Given the description of an element on the screen output the (x, y) to click on. 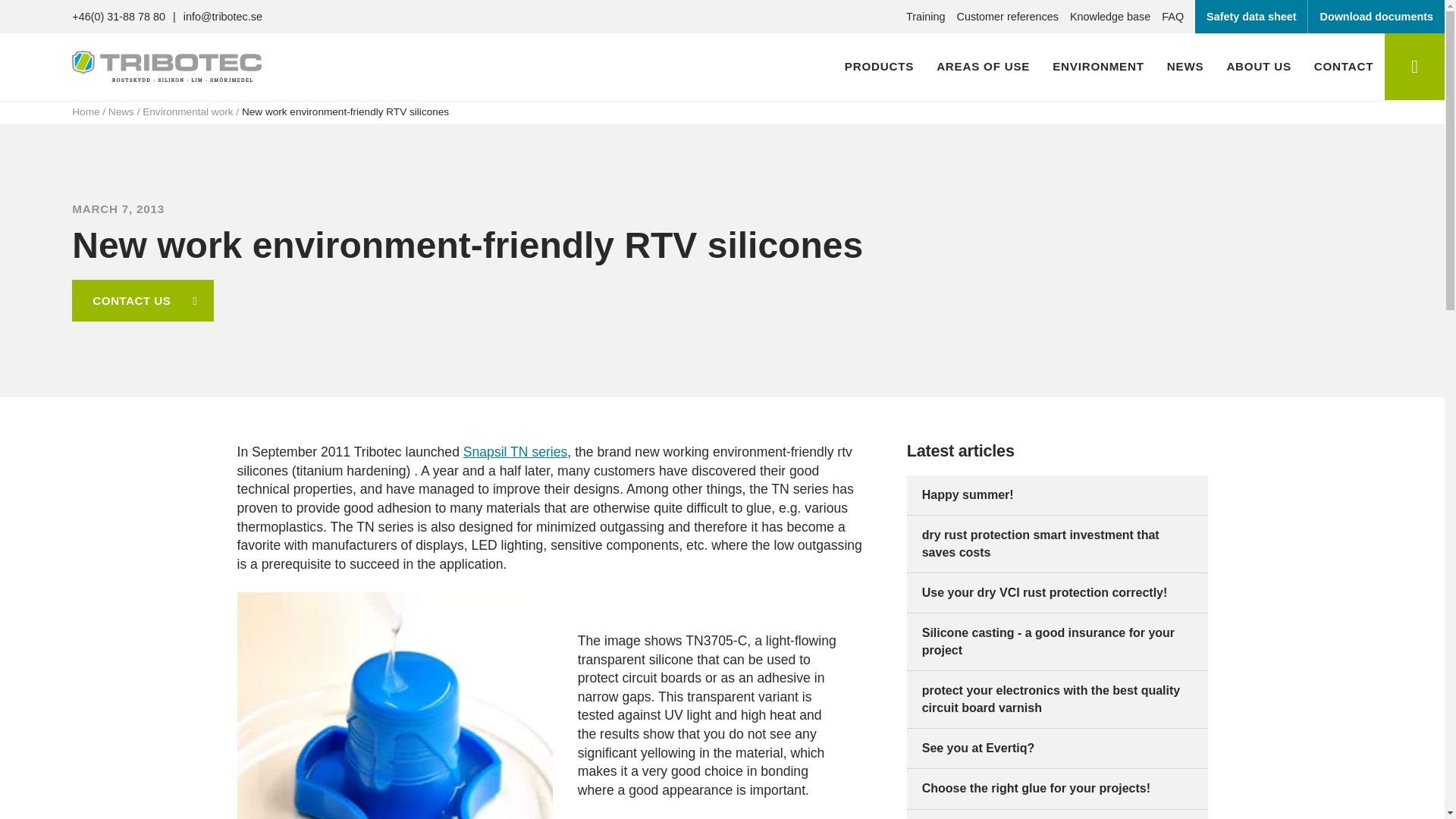
PRODUCTS (878, 66)
Safety data sheet (1251, 16)
Knowledge base (1110, 16)
Startsida (166, 71)
AREAS OF USE (982, 66)
ENVIRONMENT (1098, 66)
Training (924, 16)
ABOUT US (1257, 66)
Customer references (1007, 16)
